Given the description of an element on the screen output the (x, y) to click on. 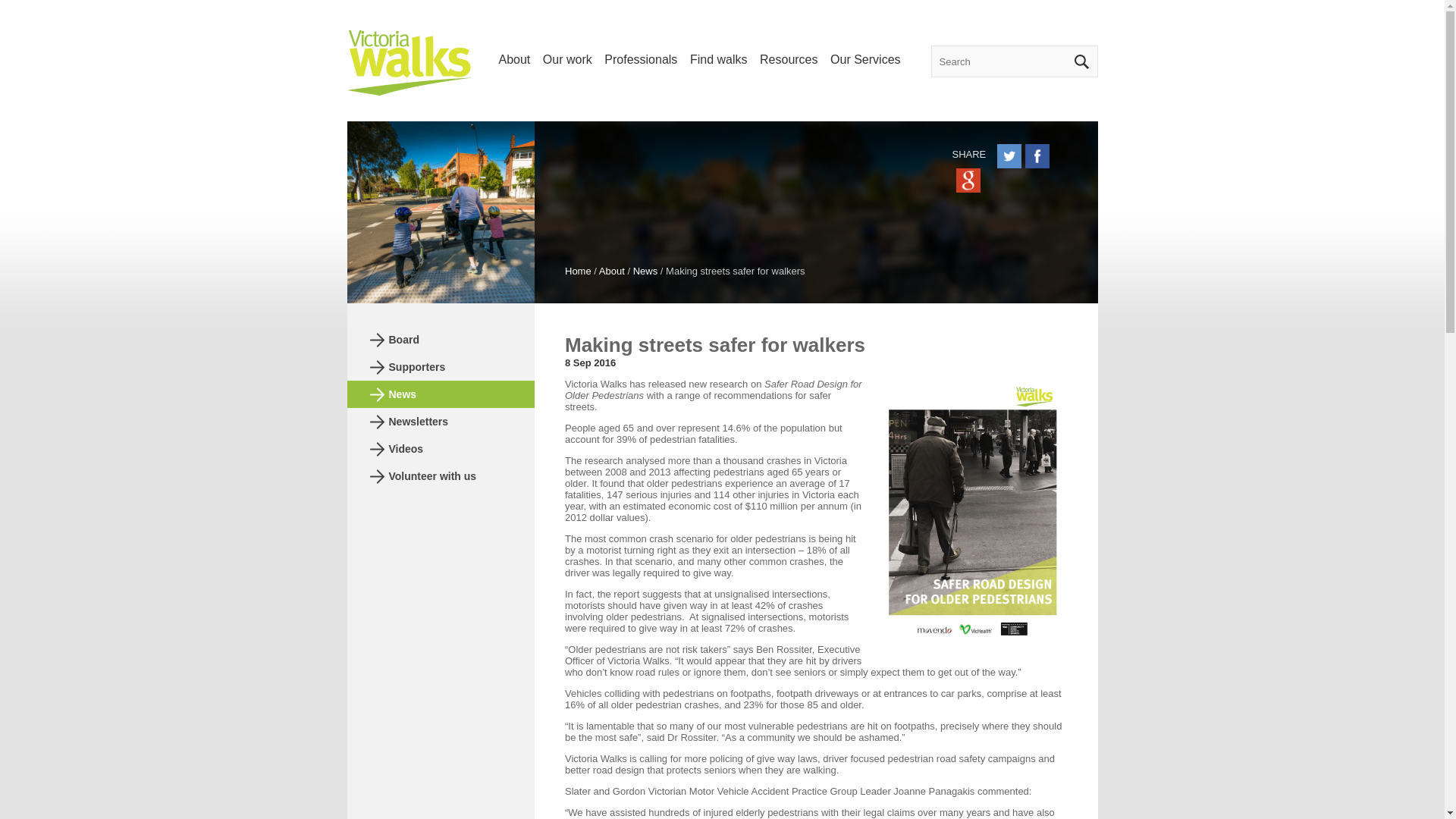
About (515, 59)
Resources (788, 59)
Find walks (719, 59)
Our Services (864, 59)
Professionals (640, 59)
Our work (567, 59)
